Given the description of an element on the screen output the (x, y) to click on. 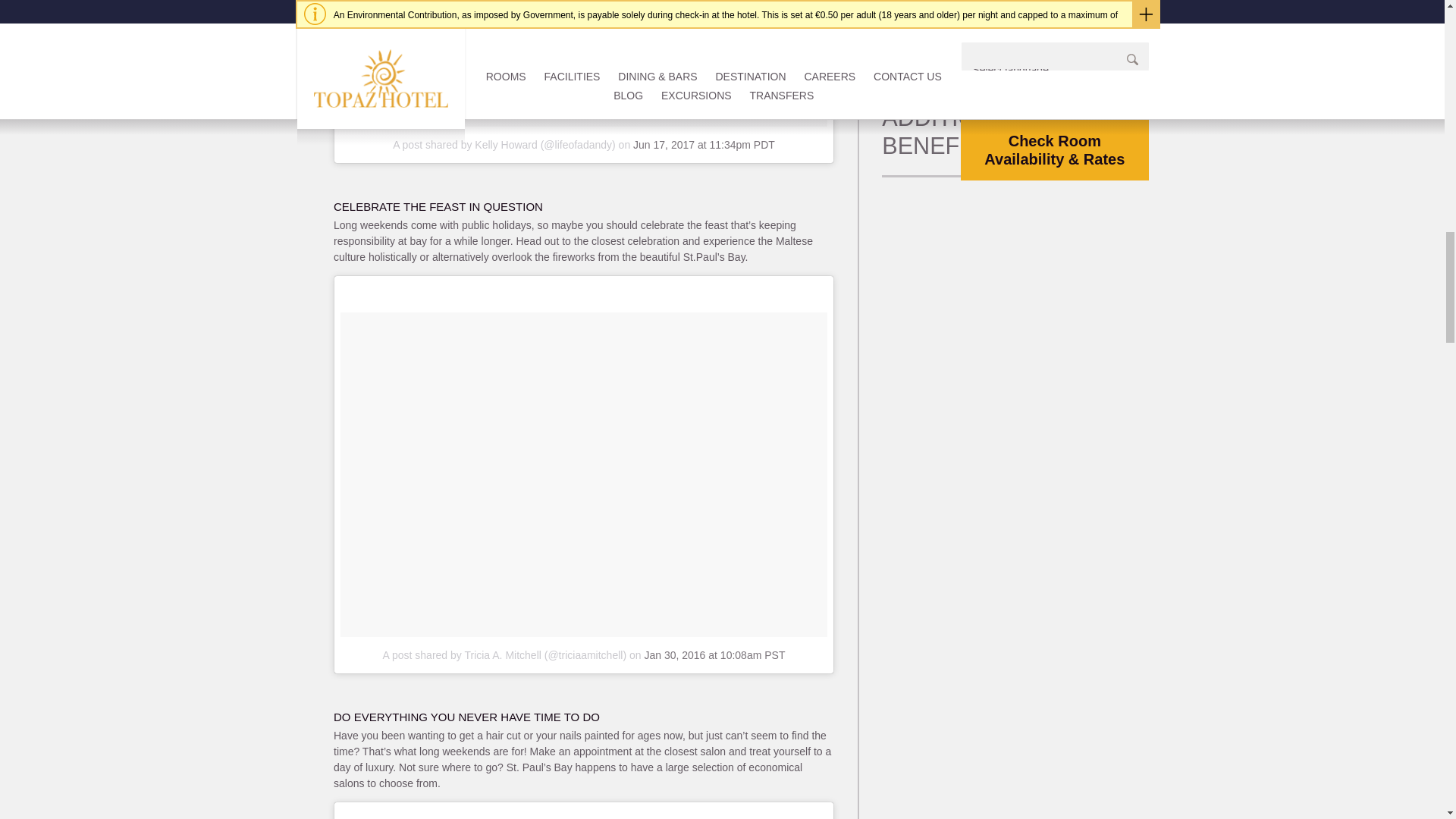
BOOK YOUR ROOM THROUGH OUR WEBSITE FOR ADDITIONAL BENEFITS (996, 90)
